Given the description of an element on the screen output the (x, y) to click on. 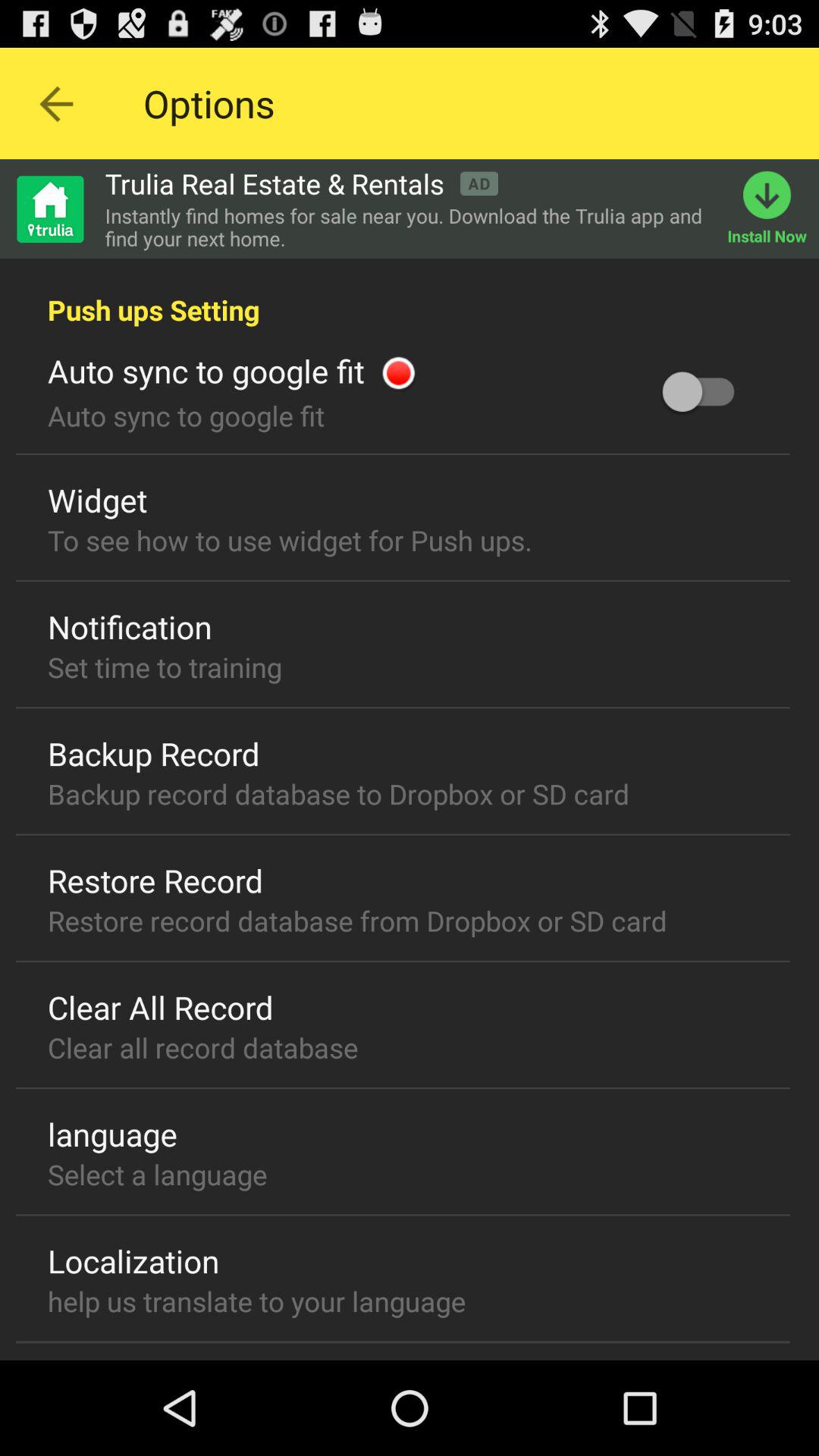
go to home (49, 208)
